Given the description of an element on the screen output the (x, y) to click on. 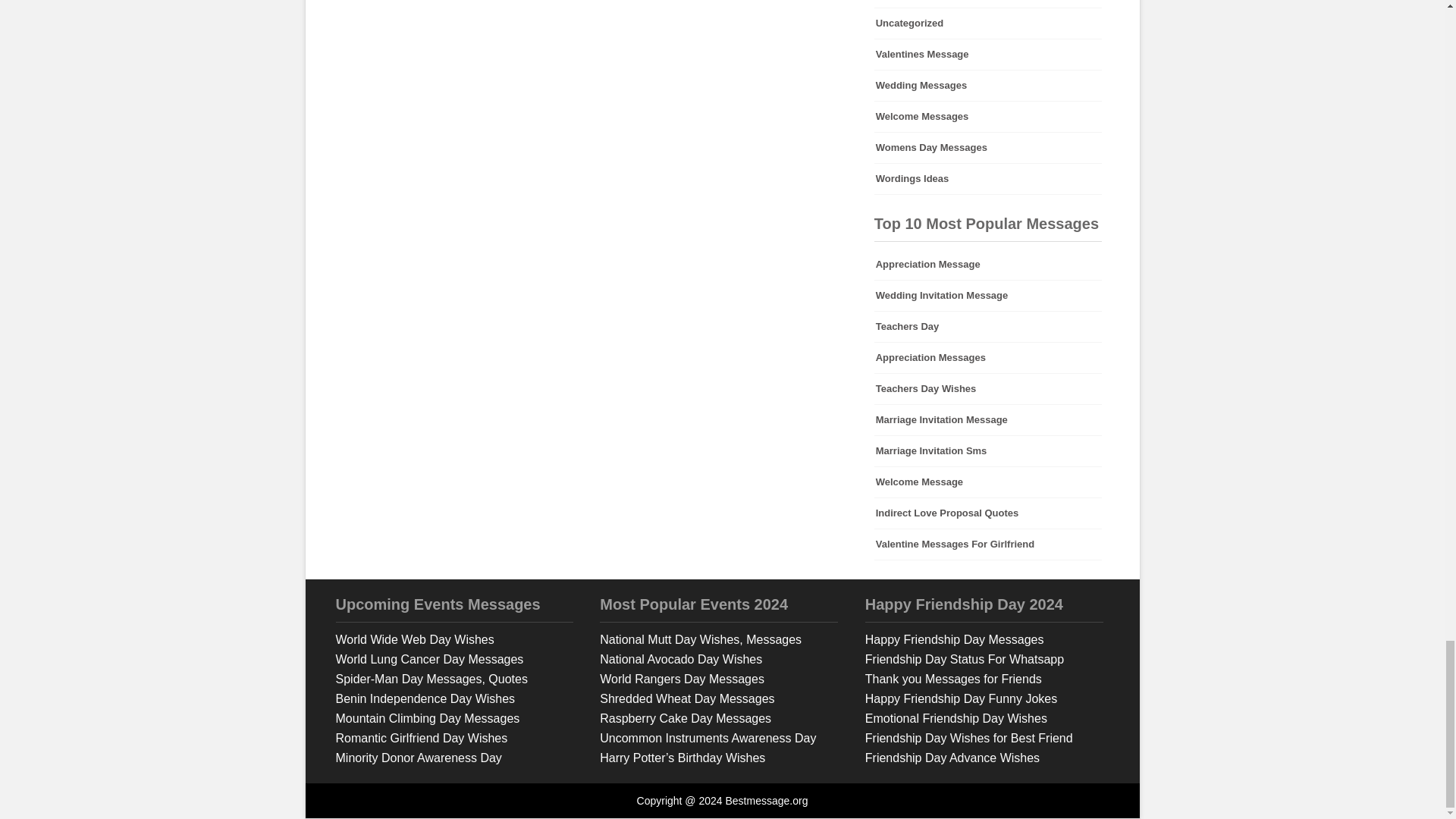
teachers day wishes (988, 388)
appreciation messages (988, 358)
marriage invitation message (988, 419)
teachers day (988, 327)
appreciation message (988, 264)
wedding invitation message (988, 295)
